Given the description of an element on the screen output the (x, y) to click on. 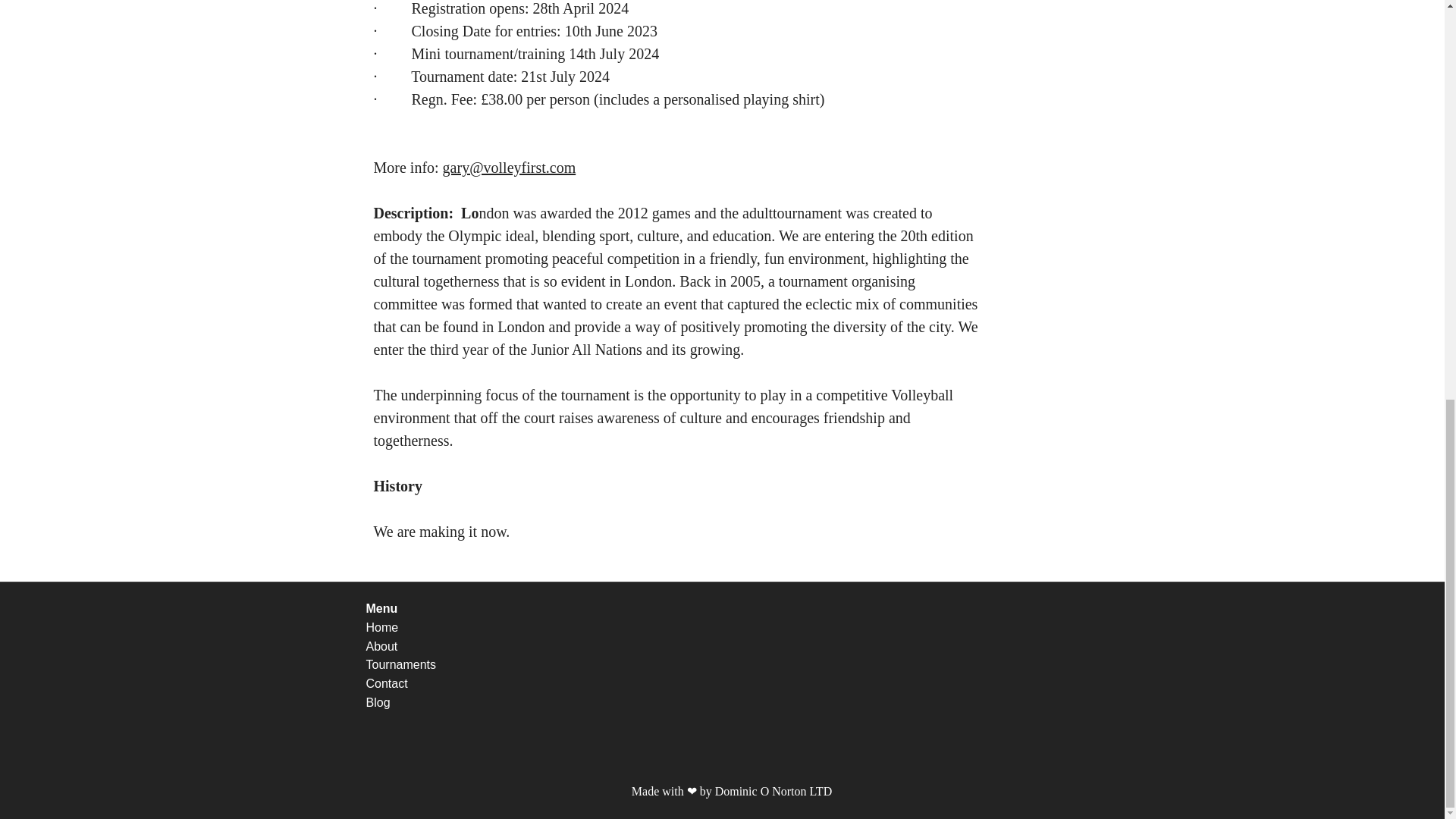
Blog (377, 702)
Home (381, 626)
Tournaments (400, 664)
Contact  (387, 683)
Dominic O Norton LTD  (774, 790)
About  (382, 645)
